Given the description of an element on the screen output the (x, y) to click on. 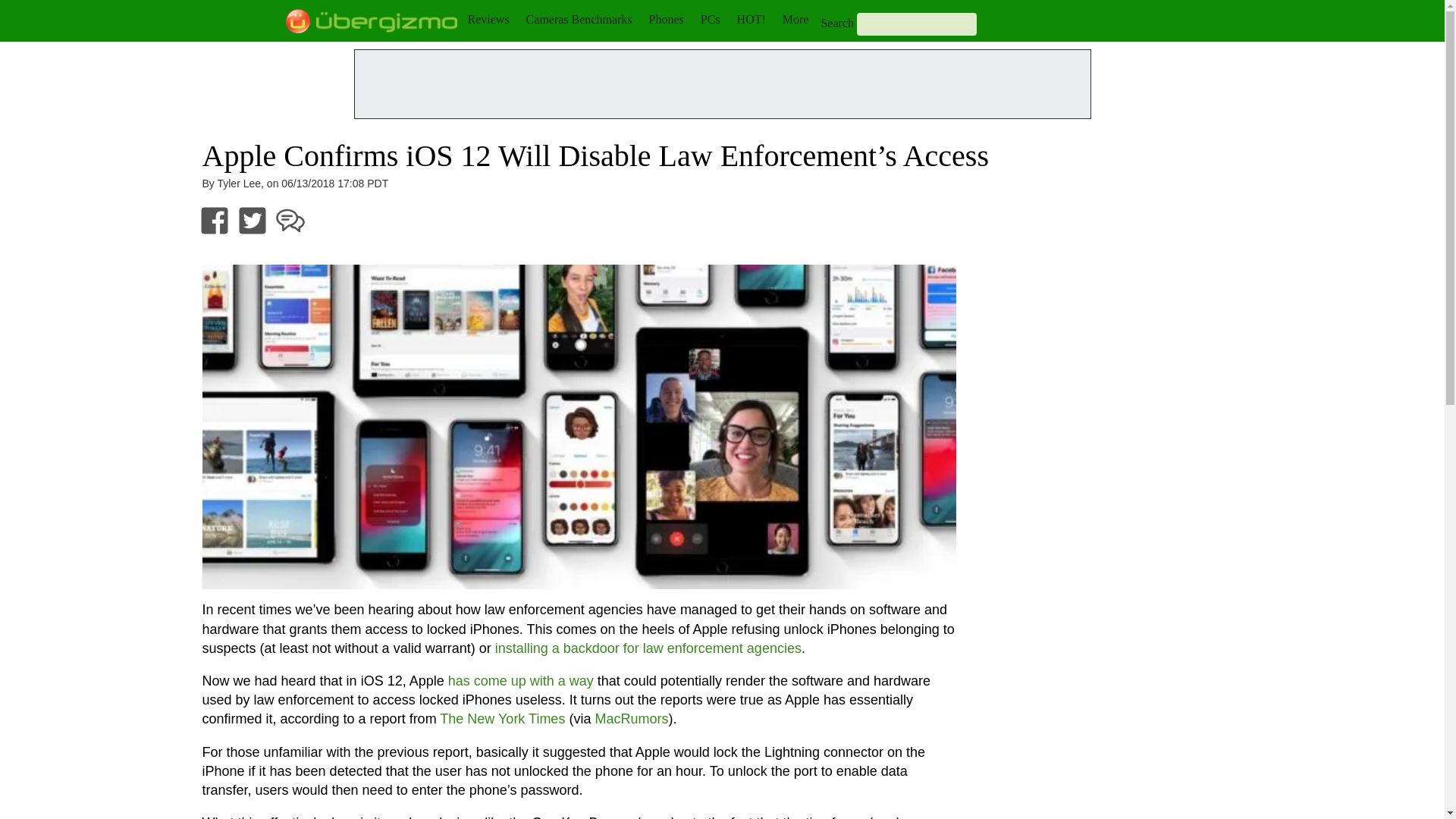
Phones (666, 19)
PCs (710, 19)
Cameras Benchmarks (578, 19)
Reviews (487, 19)
